Given the description of an element on the screen output the (x, y) to click on. 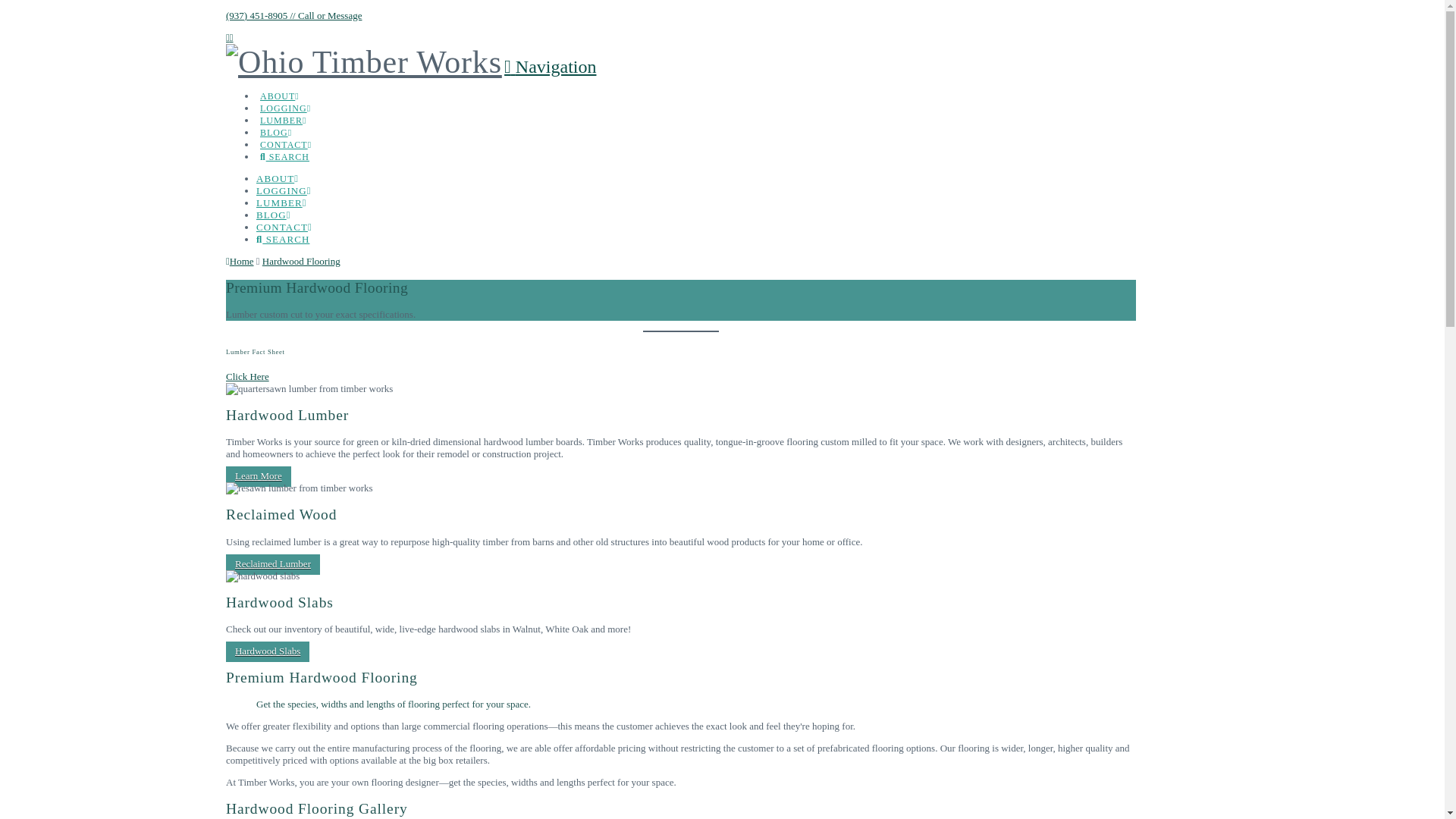
ABOUT (277, 178)
BLOG (273, 214)
Check out live-edge hardwood slabs from Timber Works (266, 651)
Click Here (247, 376)
Navigation (549, 66)
Home (239, 260)
SEARCH (289, 142)
Reclaimed Lumber (272, 564)
SEARCH (282, 238)
LUMBER (288, 106)
CONTACT (284, 226)
Learn more about our dimensional lumber (272, 564)
Facebook (227, 37)
Learn more about our dimensional lumber (258, 476)
You Are Here (301, 260)
